Given the description of an element on the screen output the (x, y) to click on. 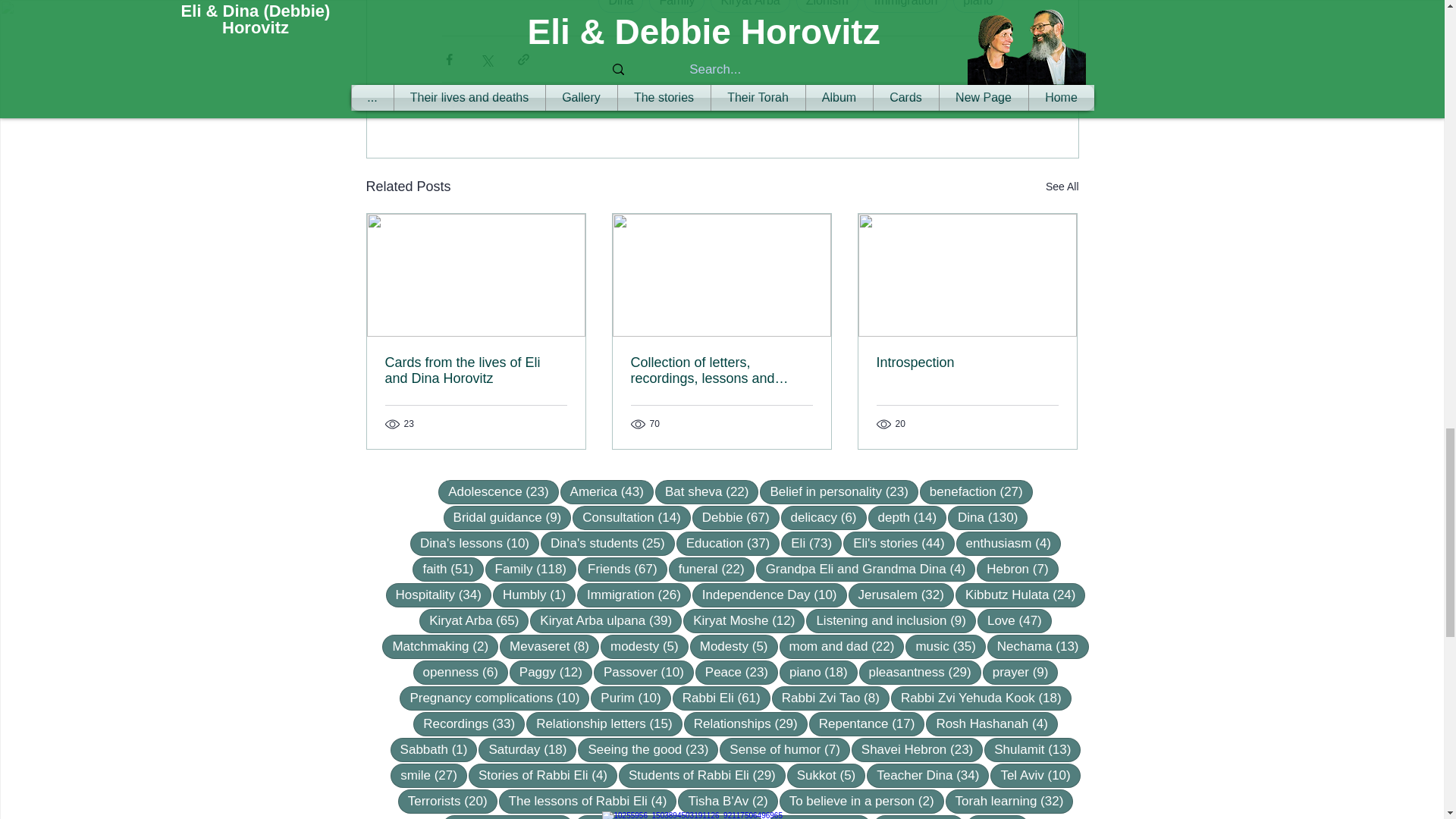
Family (676, 6)
See All (1061, 187)
Zionism (827, 6)
piano (978, 6)
Cards from the lives of Eli and Dina Horovitz (476, 370)
Collection of letters, recordings, lessons and stories (721, 370)
Immigration (905, 6)
Dina (620, 6)
Introspection (967, 362)
Kiryat Arba (749, 6)
